Given the description of an element on the screen output the (x, y) to click on. 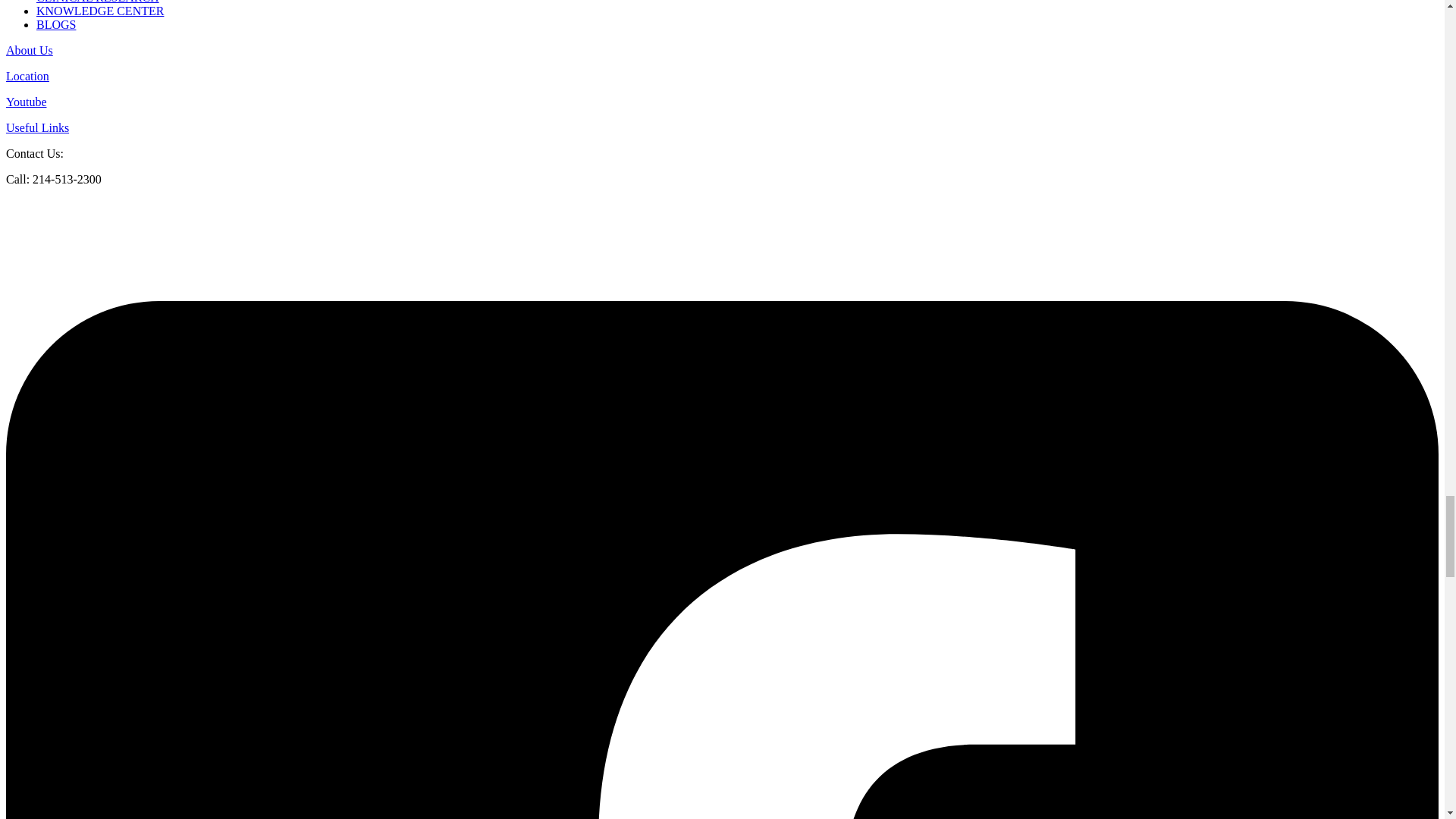
CLINICAL RESEARCH (97, 2)
Location (27, 75)
KNOWLEDGE CENTER (99, 10)
Useful Links (36, 127)
About Us (28, 50)
Youtube (25, 101)
BLOGS (55, 24)
